Given the description of an element on the screen output the (x, y) to click on. 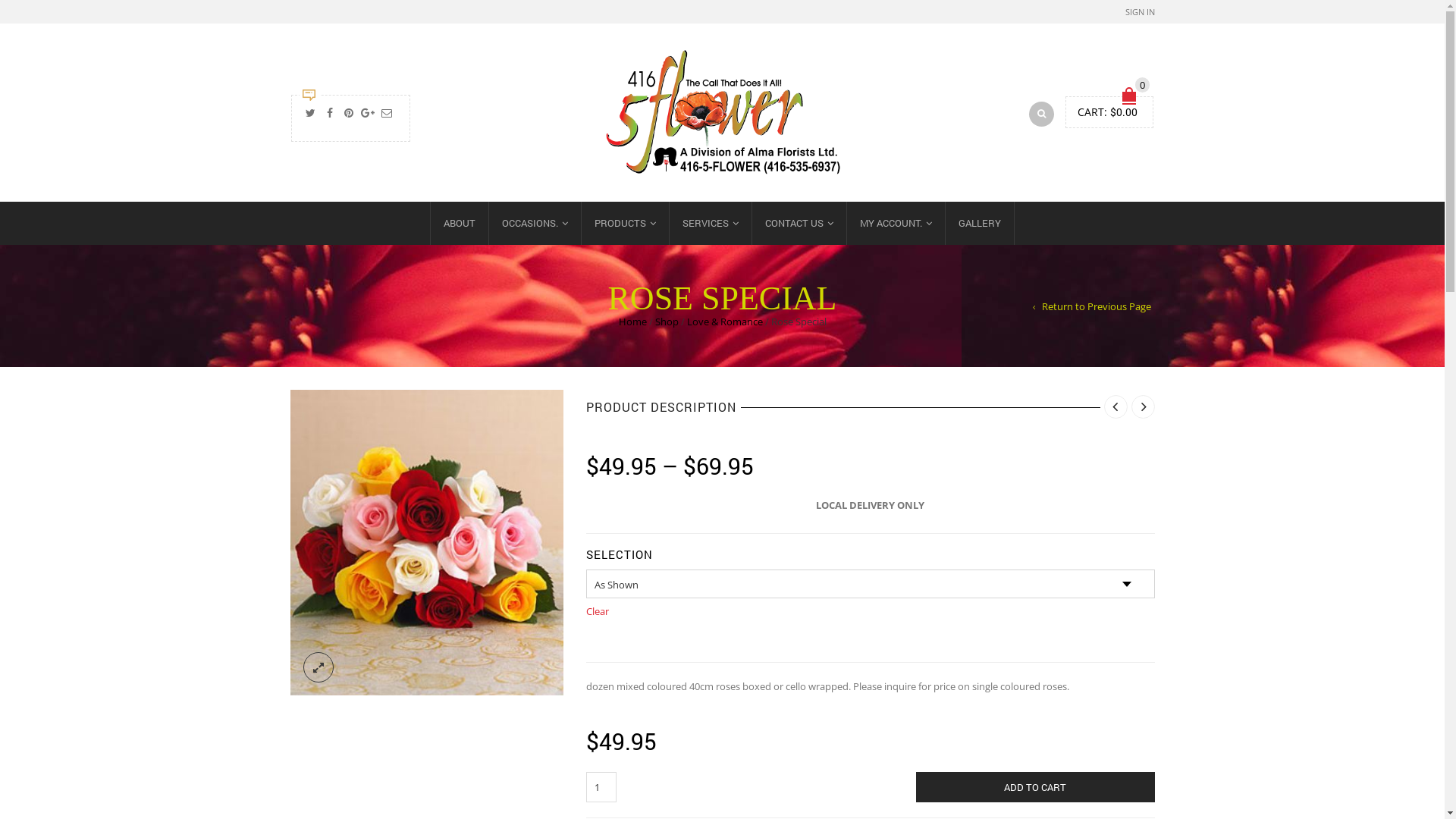
Clear Element type: text (869, 610)
Shop Element type: text (666, 321)
lightbox Element type: text (318, 667)
GALLERY Element type: text (979, 222)
ABOUT Element type: text (458, 222)
SIGN IN Element type: text (1139, 11)
MY ACCOUNT. Element type: text (895, 222)
PRODUCTS Element type: text (624, 222)
CONTACT US Element type: text (798, 222)
Login Element type: text (1101, 223)
OCCASIONS. Element type: text (534, 222)
Love & Romance Element type: text (724, 321)
Home Element type: text (632, 321)
SERVICES Element type: text (709, 222)
Return to Previous Page Element type: text (1091, 306)
Qty Element type: hover (600, 786)
ADD TO CART Element type: text (1035, 786)
